Given the description of an element on the screen output the (x, y) to click on. 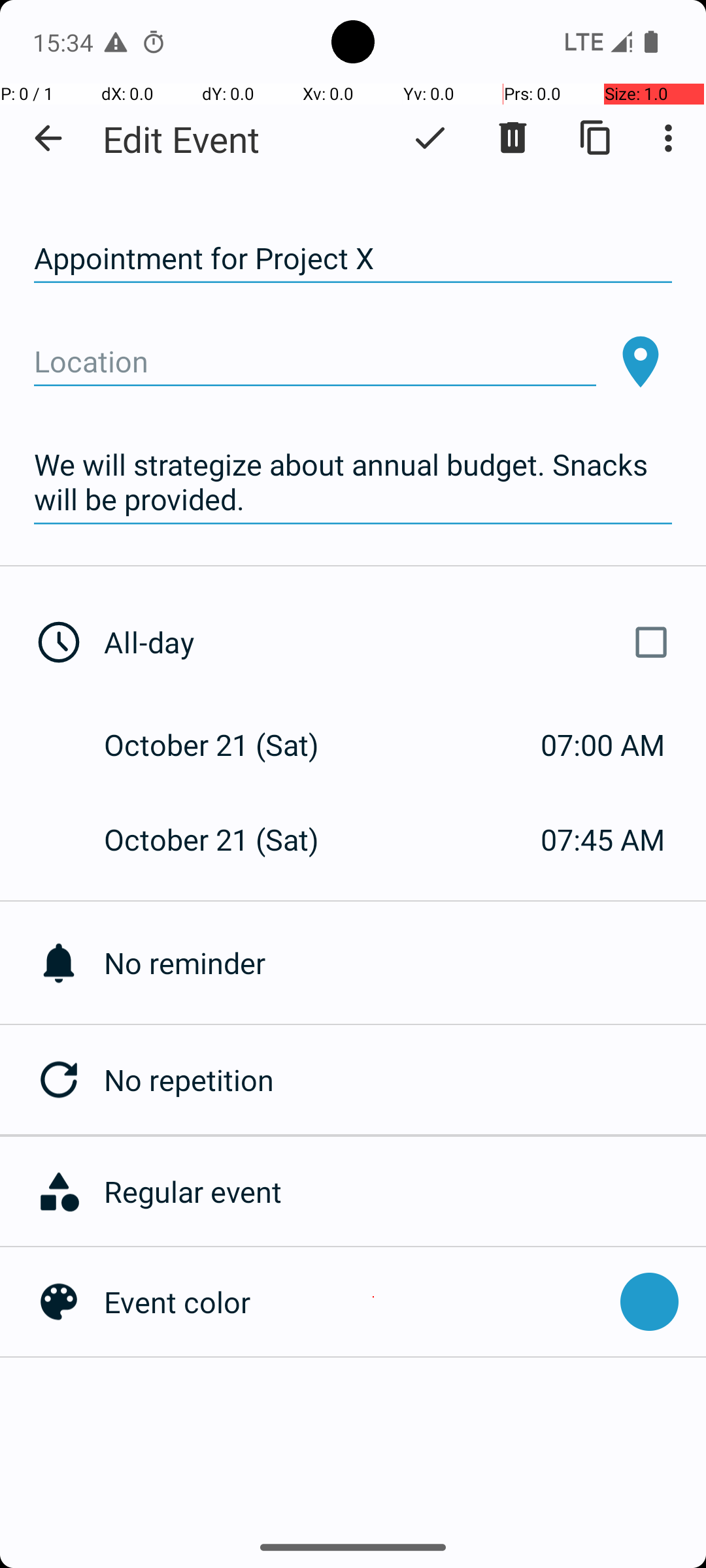
Appointment for Project X Element type: android.widget.EditText (352, 258)
We will strategize about annual budget. Snacks will be provided. Element type: android.widget.EditText (352, 482)
October 21 (Sat) Element type: android.widget.TextView (224, 744)
07:00 AM Element type: android.widget.TextView (602, 744)
07:45 AM Element type: android.widget.TextView (602, 838)
